Given the description of an element on the screen output the (x, y) to click on. 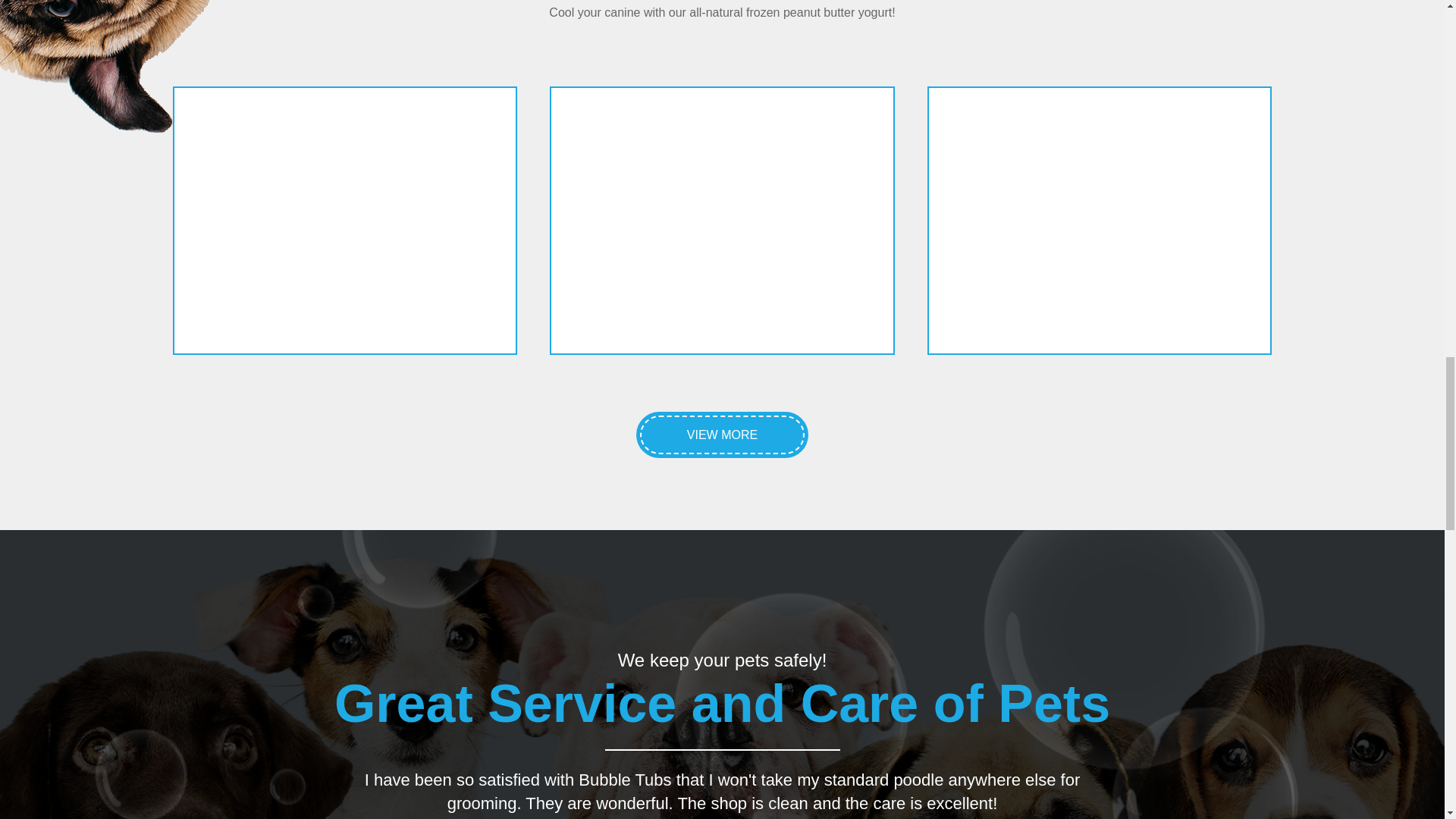
VIEW MORE (722, 434)
